Given the description of an element on the screen output the (x, y) to click on. 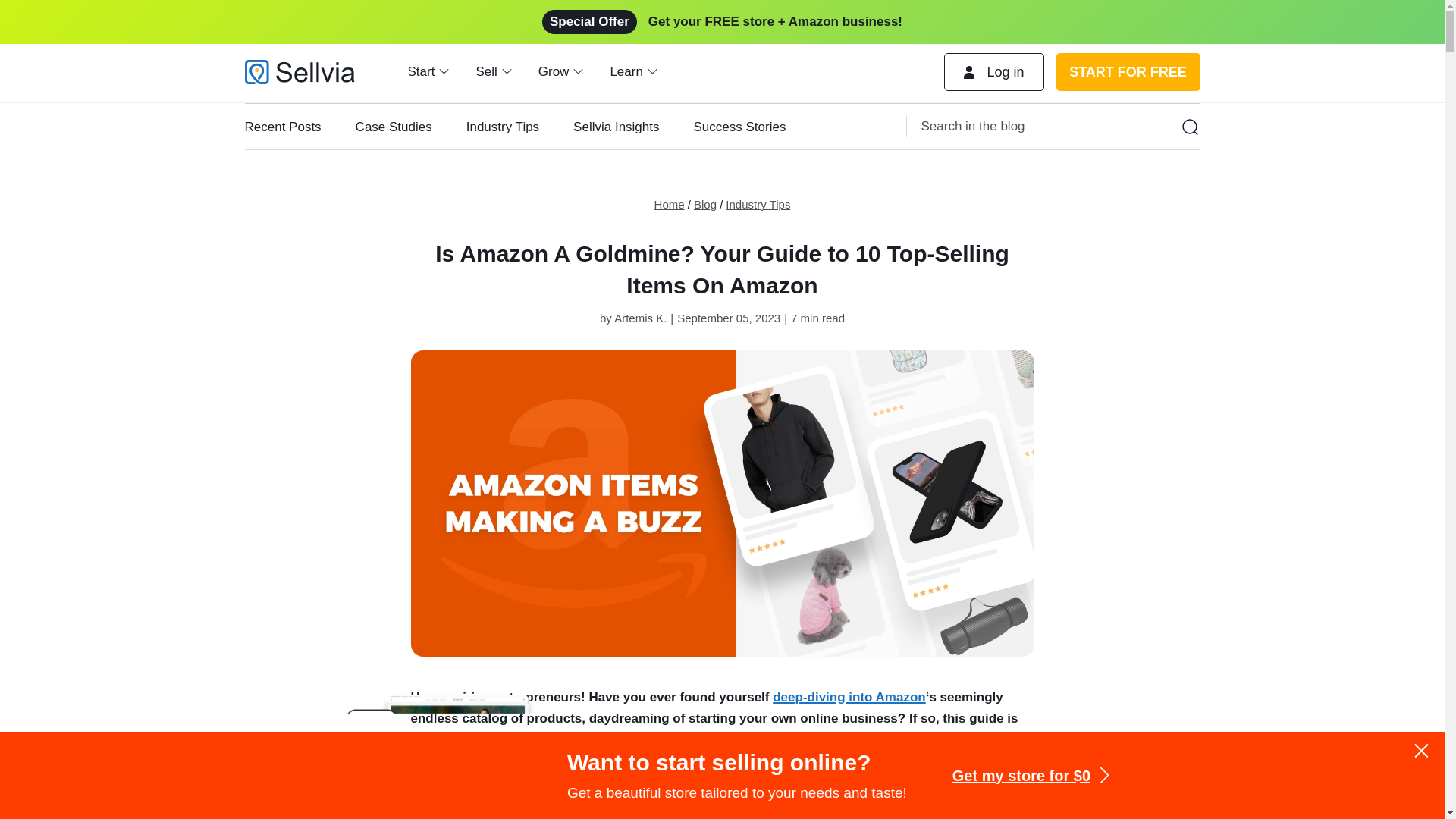
Home (668, 204)
Case Studies (410, 128)
Log in (993, 71)
deep-diving into Amazon (848, 697)
Industry Tips (519, 128)
Blog (705, 204)
Industry Tips (757, 204)
START FOR FREE (1127, 71)
Recent Posts (299, 128)
Sellvia Insights (633, 128)
